Given the description of an element on the screen output the (x, y) to click on. 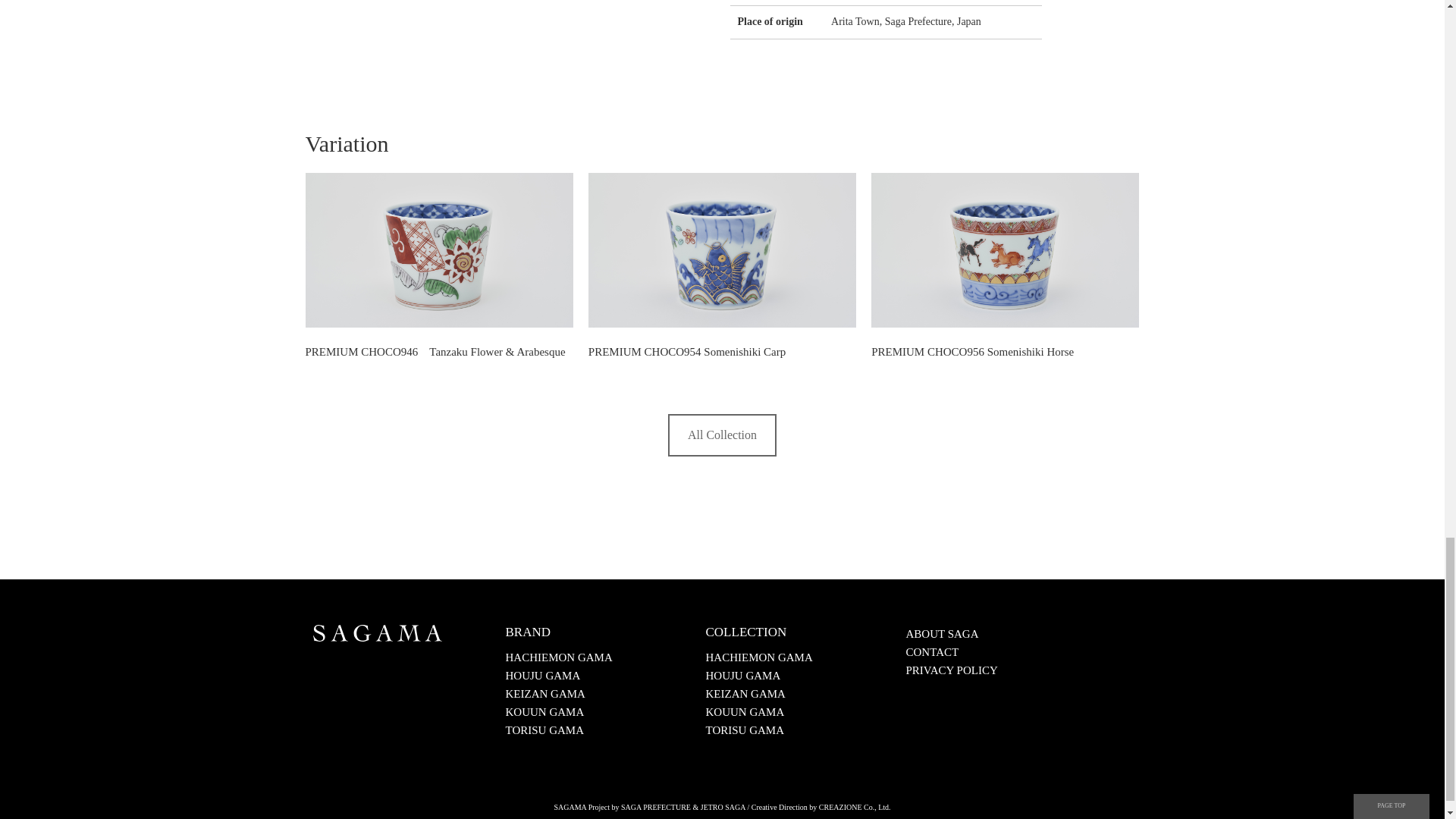
All Collection (722, 435)
TORISU GAMA (544, 729)
TORISU GAMA (743, 729)
HACHIEMON GAMA (758, 657)
KEIZAN GAMA (744, 693)
HOUJU GAMA (742, 675)
ABOUT SAGA (941, 633)
HACHIEMON GAMA (558, 657)
KOUUN GAMA (544, 711)
CONTACT (931, 652)
HOUJU GAMA (542, 675)
KOUUN GAMA (744, 711)
KEIZAN GAMA (545, 693)
